Given the description of an element on the screen output the (x, y) to click on. 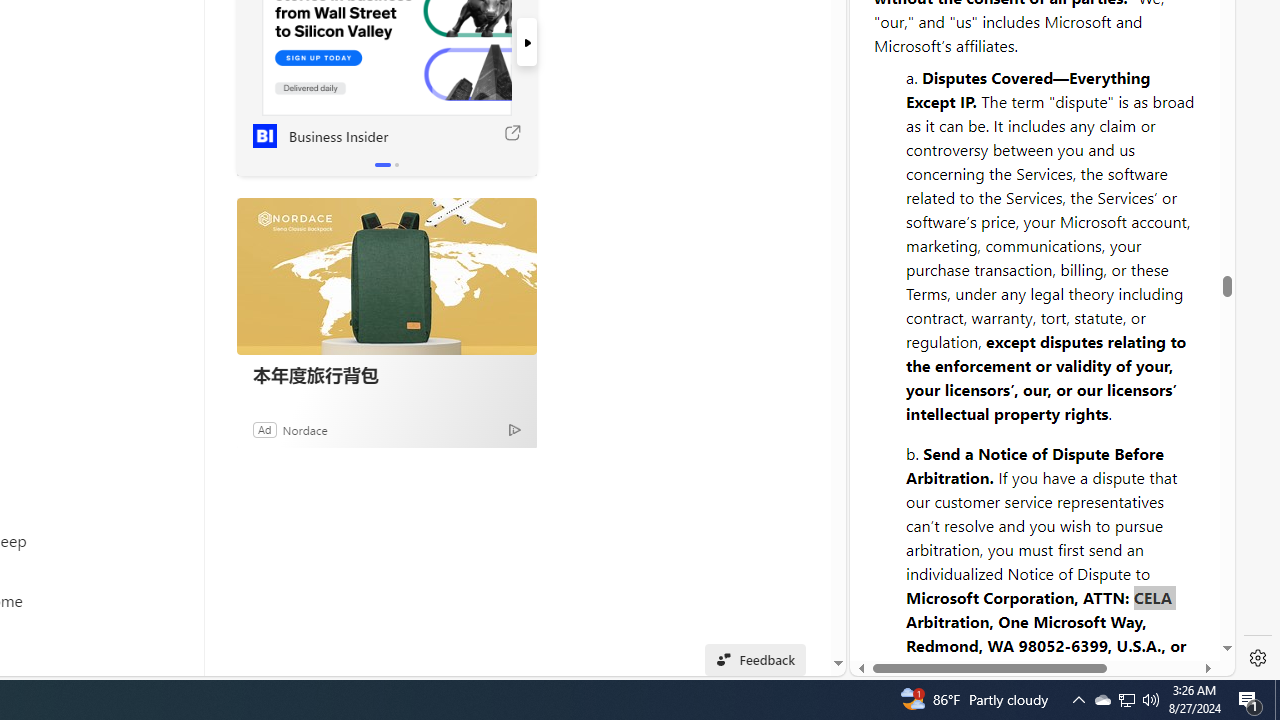
Open in New Tab (1042, 631)
Legal (991, 602)
Privacy (922, 611)
Privacy (922, 602)
Feedback (1155, 602)
Advertise (1066, 602)
Nordace (304, 429)
Feedback (1154, 611)
Business Insider (264, 135)
Ad Choice (514, 429)
